Given the description of an element on the screen output the (x, y) to click on. 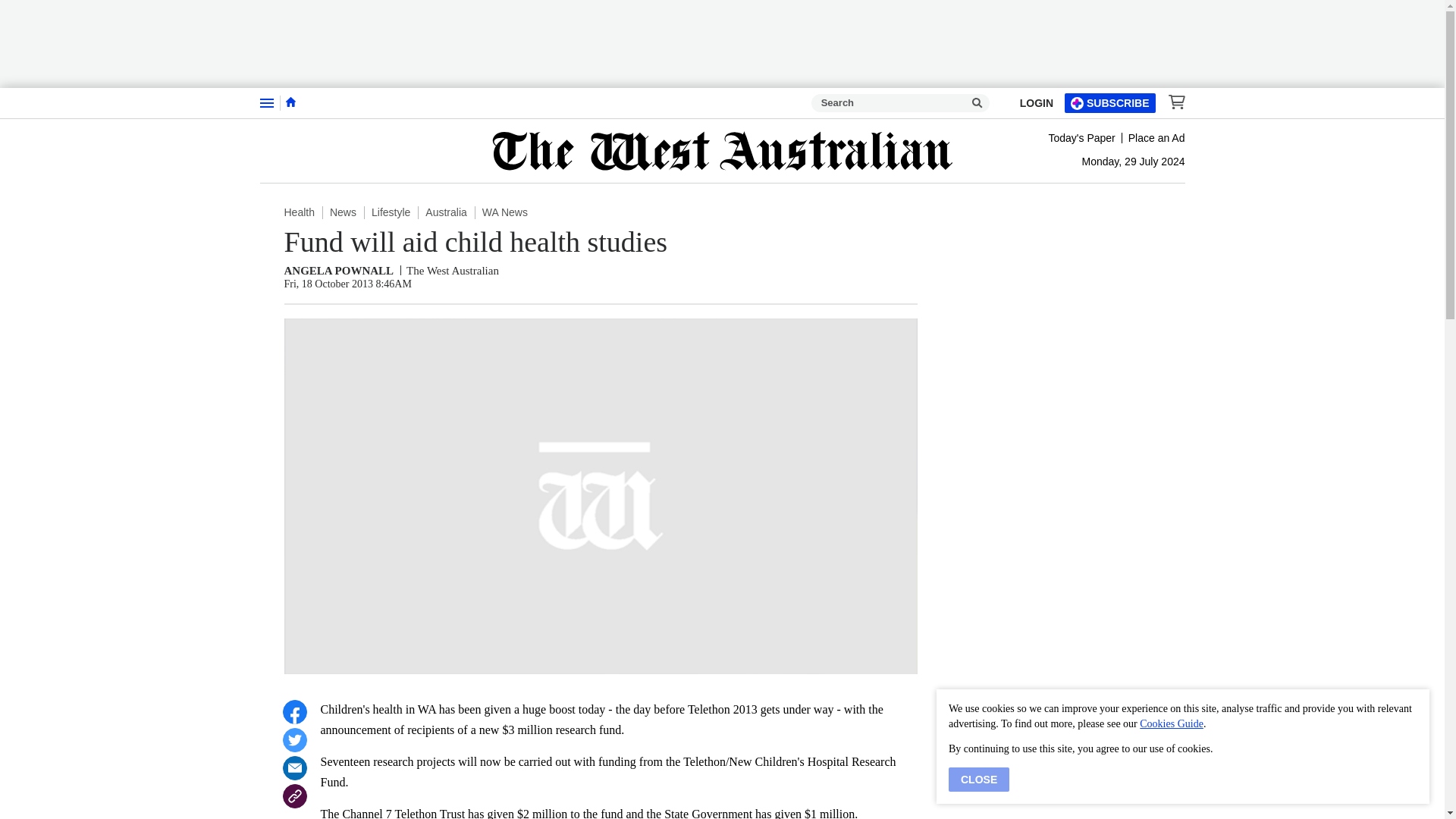
Empty Cart Icon (1172, 102)
Please enter a search term. (977, 102)
Home (290, 102)
